Given the description of an element on the screen output the (x, y) to click on. 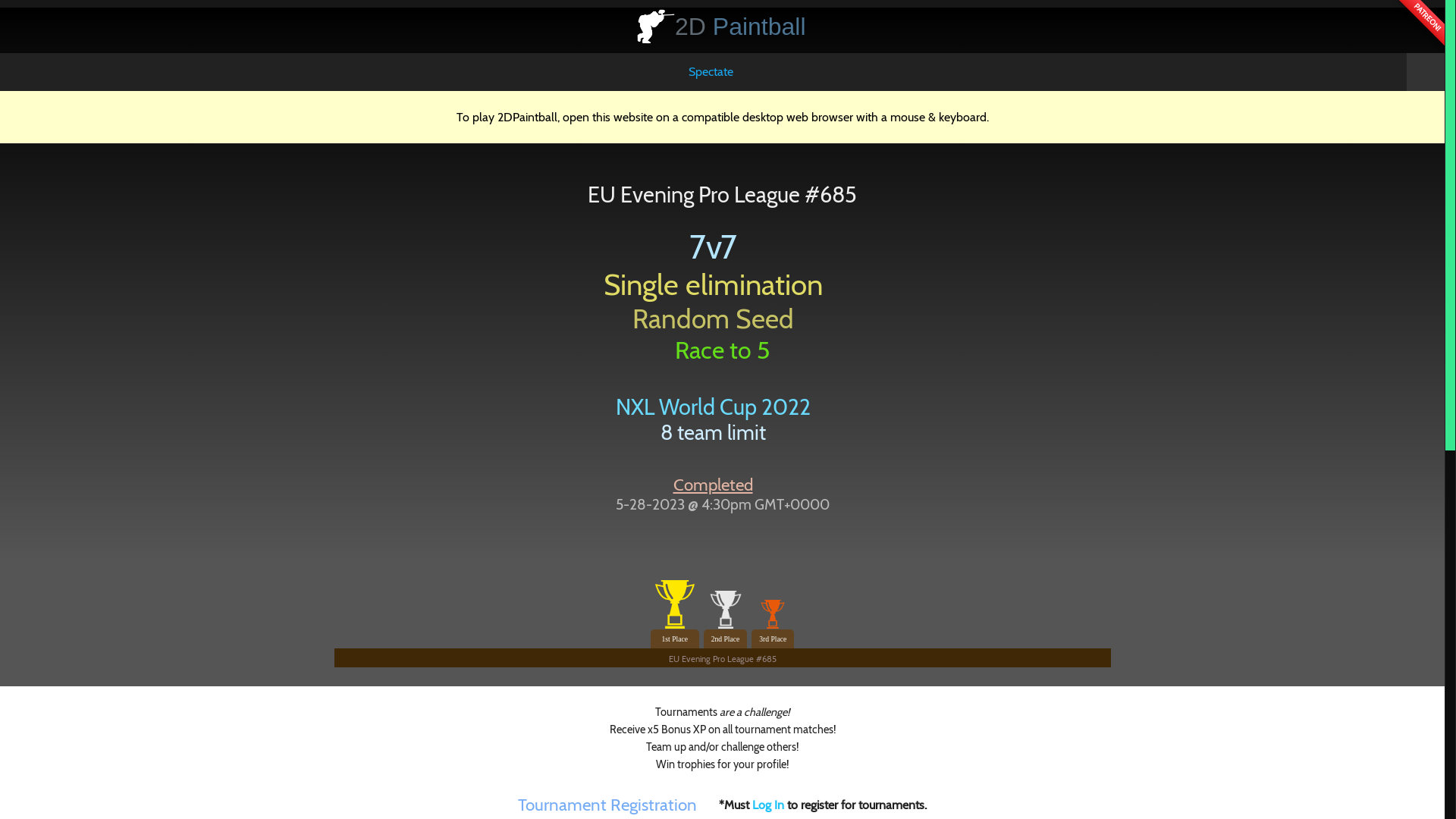
3rd Place Element type: text (772, 623)
2nd Place Element type: text (725, 619)
Spectate Element type: text (710, 72)
1st Place Element type: text (674, 614)
Log In Element type: text (769, 804)
2D Paintball Element type: text (740, 26)
NXL World Cup 2022 Element type: text (712, 406)
